Given the description of an element on the screen output the (x, y) to click on. 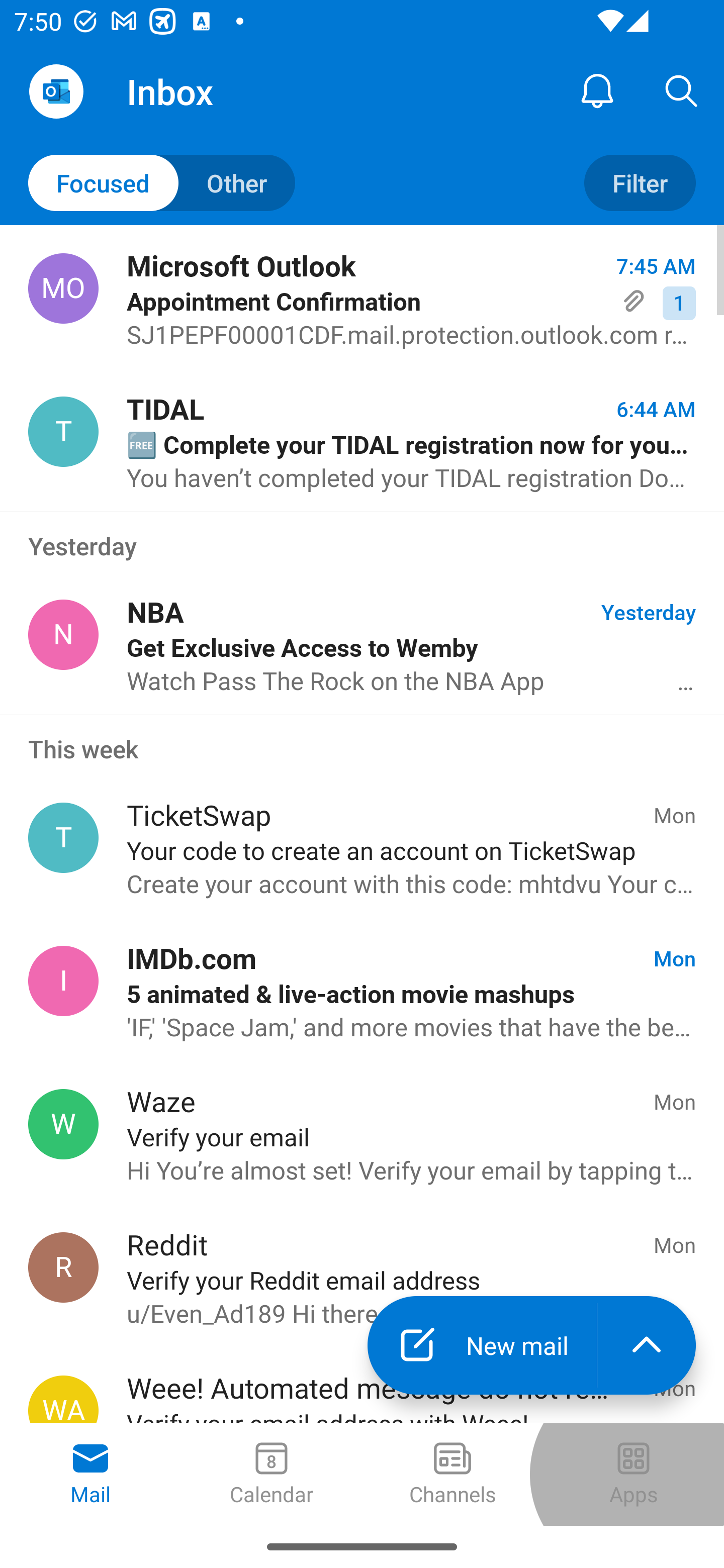
Notification Center (597, 90)
Search, ,  (681, 90)
Open Navigation Drawer (55, 91)
Toggle to other mails (161, 183)
Filter (639, 183)
TIDAL, hello@email.tidal.com (63, 431)
NBA, NBA@email.nba.com (63, 633)
TicketSwap, info@ticketswap.com (63, 837)
IMDb.com, do-not-reply@imdb.com (63, 980)
Waze, noreply@waze.com (63, 1123)
Reddit, noreply@reddit.com (63, 1267)
New mail (481, 1344)
launch the extended action menu (646, 1344)
Calendar (271, 1474)
Channels (452, 1474)
Apps (633, 1474)
